Given the description of an element on the screen output the (x, y) to click on. 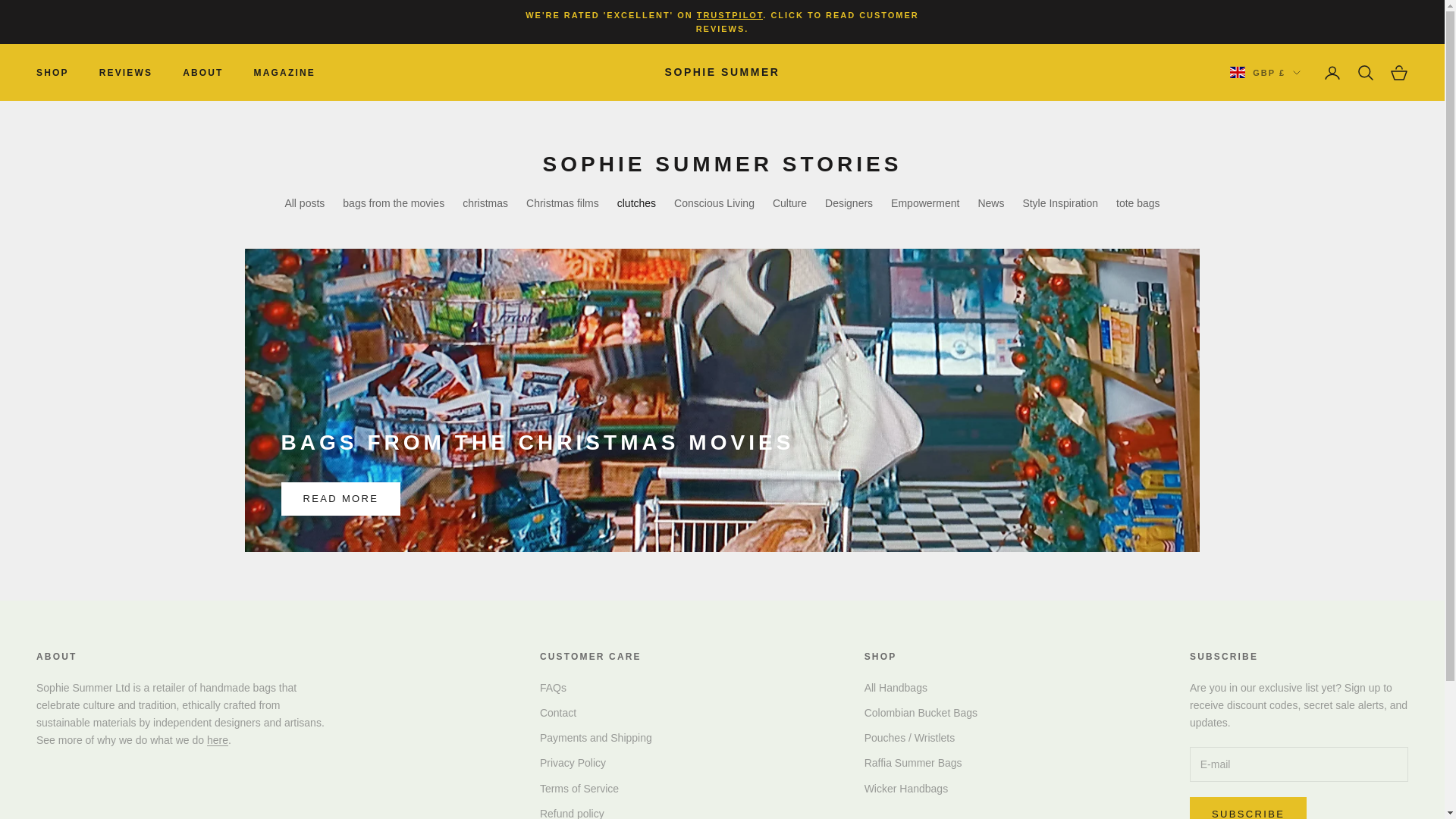
Show articles tagged Empowerment (925, 203)
Show articles tagged News (990, 203)
About Us (217, 739)
Show articles tagged Culture (789, 203)
SOPHIE SUMMER (722, 72)
Show articles tagged Christmas films (561, 203)
Show articles tagged christmas (485, 203)
Show articles tagged Designers (848, 203)
Show articles tagged Style Inspiration (1059, 203)
Show articles tagged bags from the movies (393, 203)
TRUSTPILOT (729, 14)
Widen search to articles that aren't tagged clutches (636, 203)
REVIEWS (125, 72)
Show articles tagged tote bags (1138, 203)
Show articles tagged Conscious Living (714, 203)
